Given the description of an element on the screen output the (x, y) to click on. 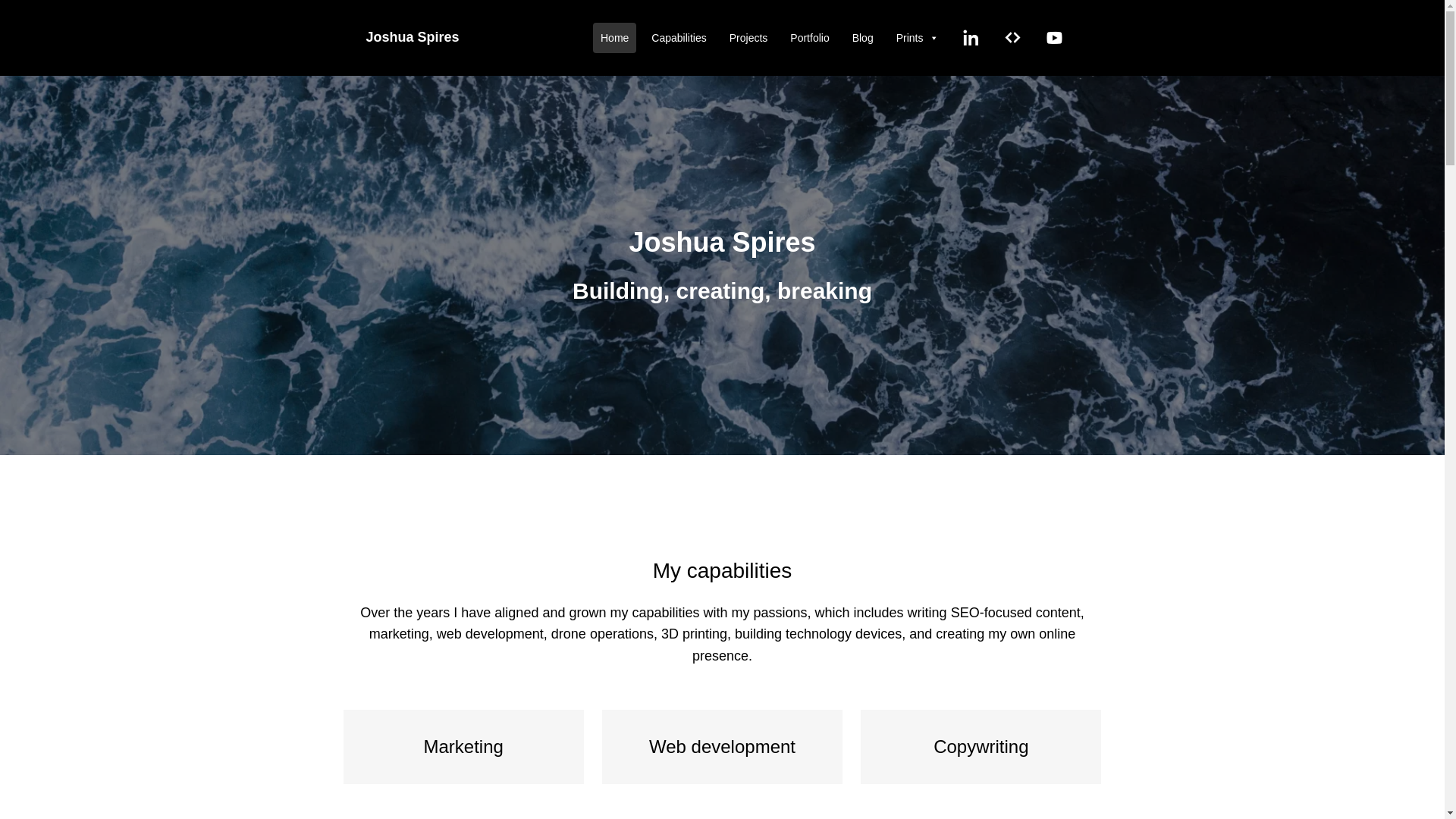
Joshua Spires Element type: text (411, 36)
Capabilities Element type: text (678, 37)
Blog Element type: text (862, 37)
Portfolio Element type: text (809, 37)
Prints Element type: text (917, 37)
Josh Spires 3 Element type: hover (722, 265)
Projects Element type: text (748, 37)
Home Element type: text (614, 37)
